Given the description of an element on the screen output the (x, y) to click on. 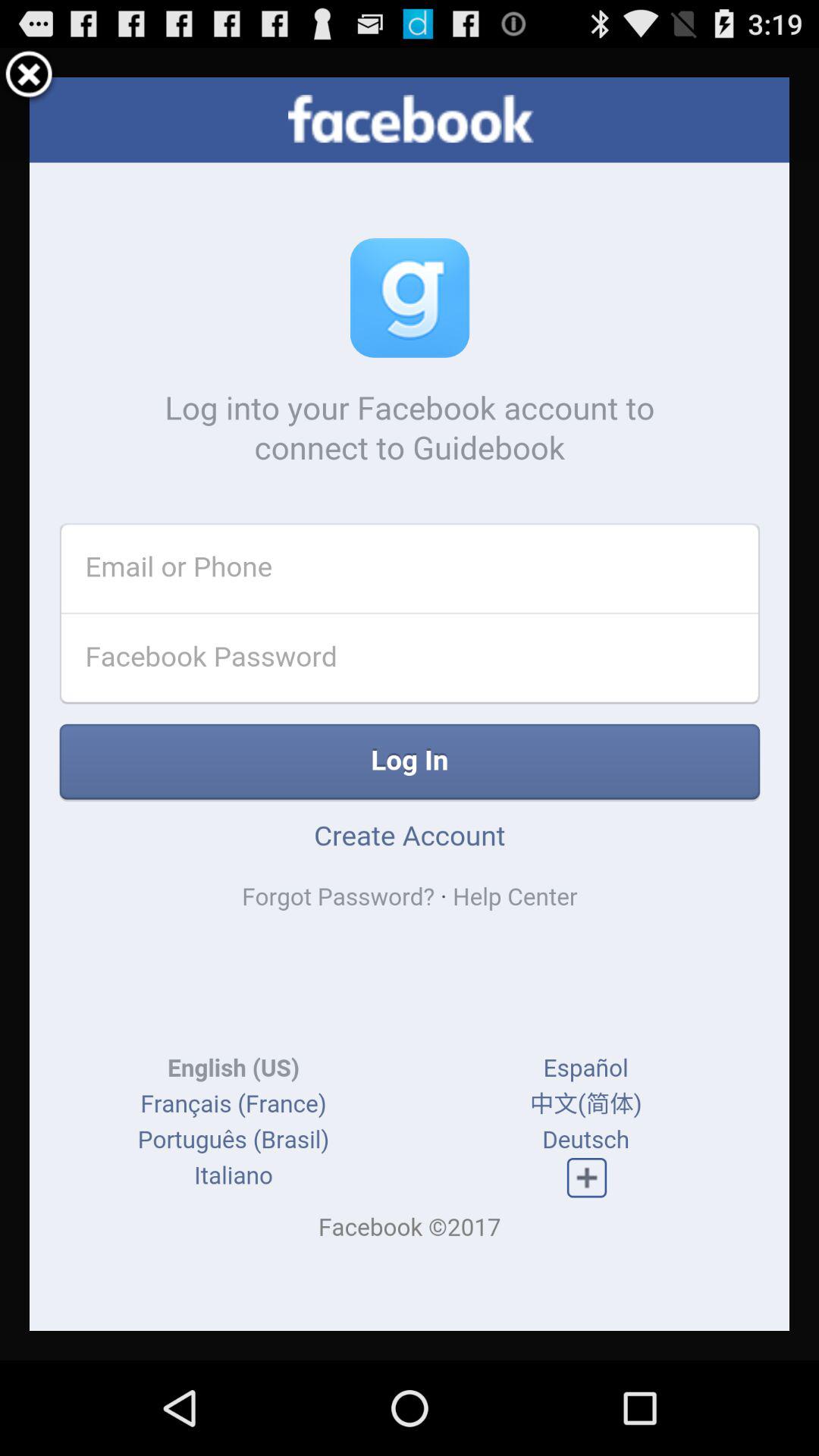
description (409, 703)
